Given the description of an element on the screen output the (x, y) to click on. 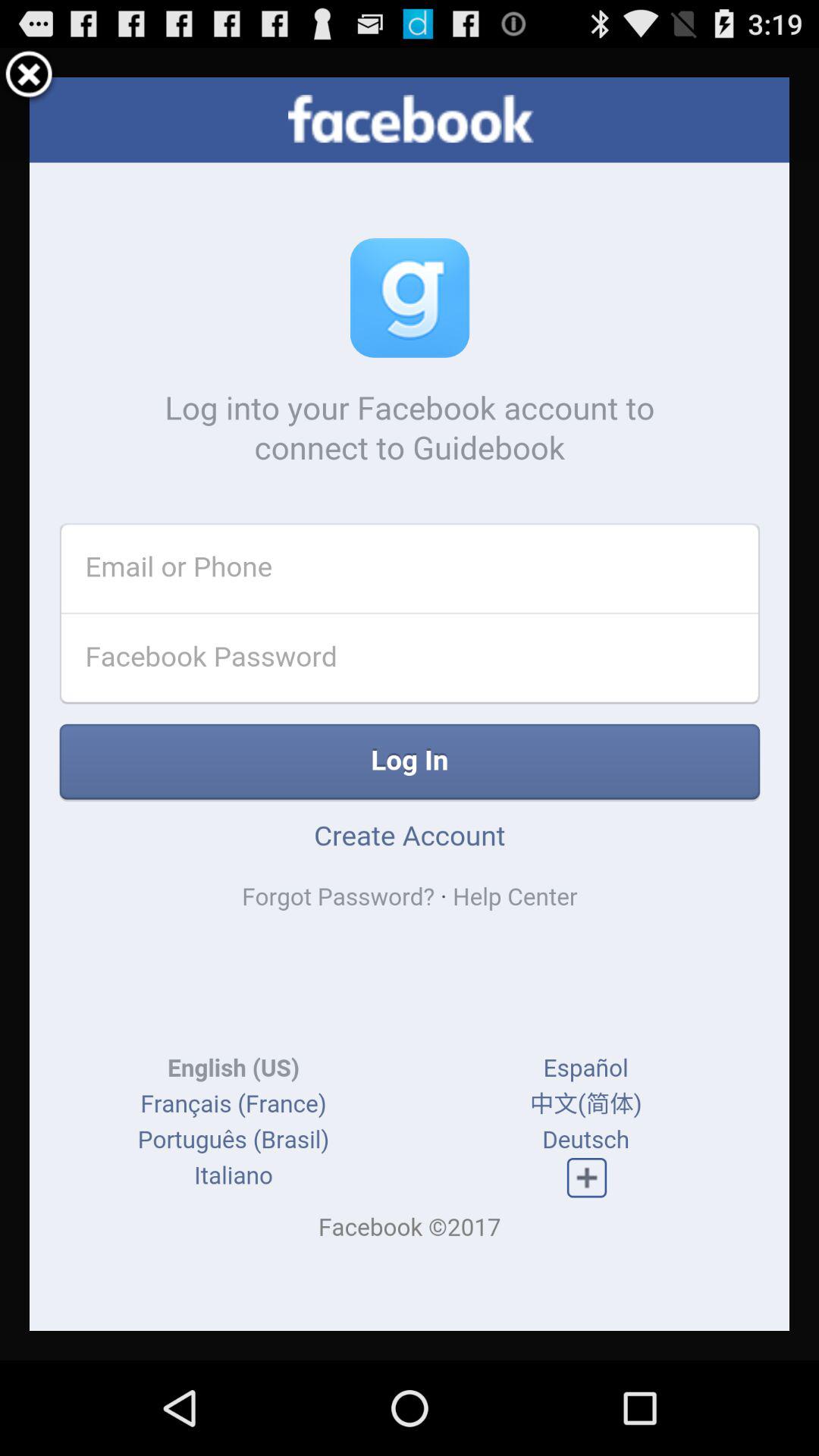
description (409, 703)
